Given the description of an element on the screen output the (x, y) to click on. 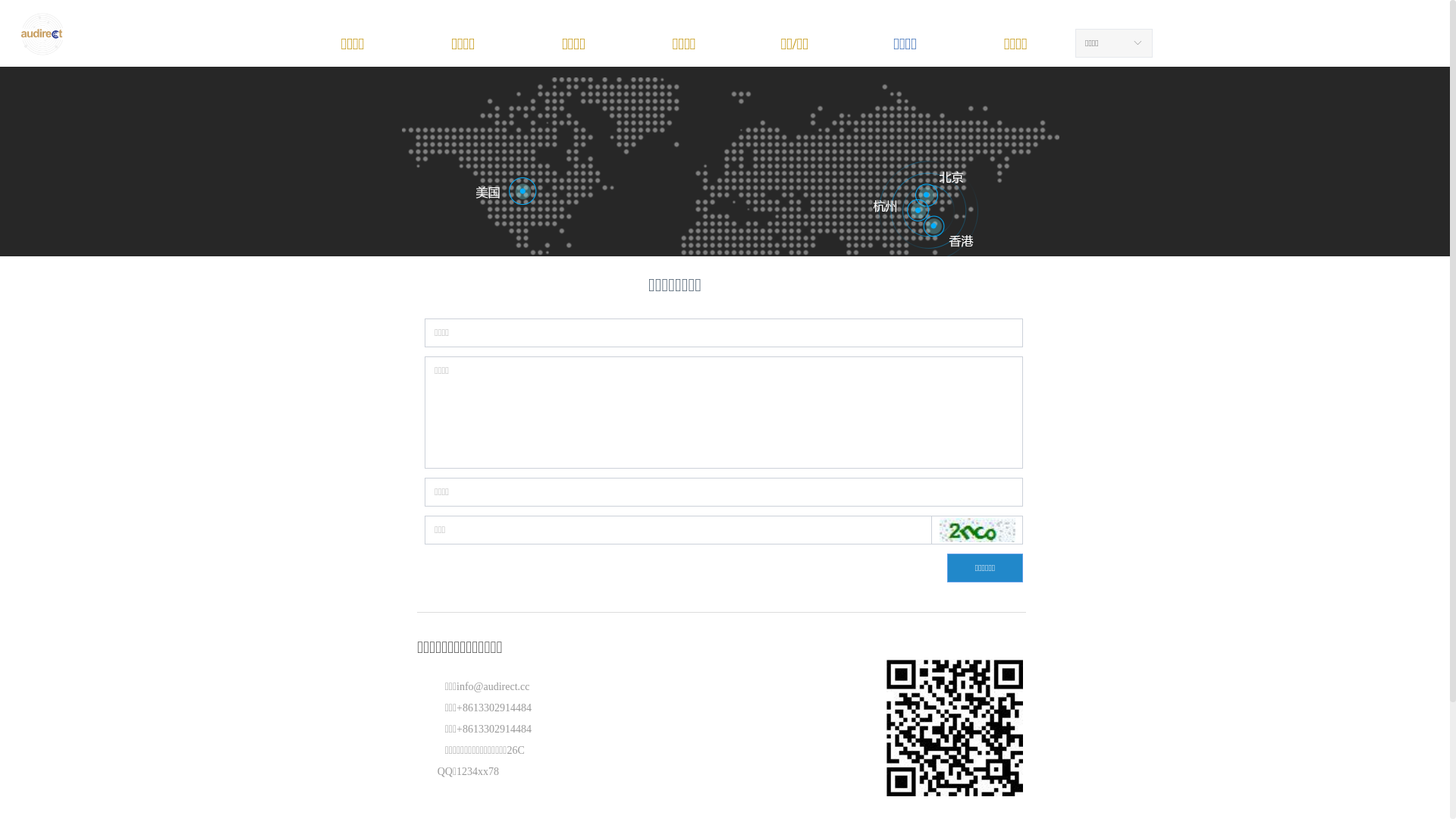
logo35 Element type: hover (42, 34)
